Given the description of an element on the screen output the (x, y) to click on. 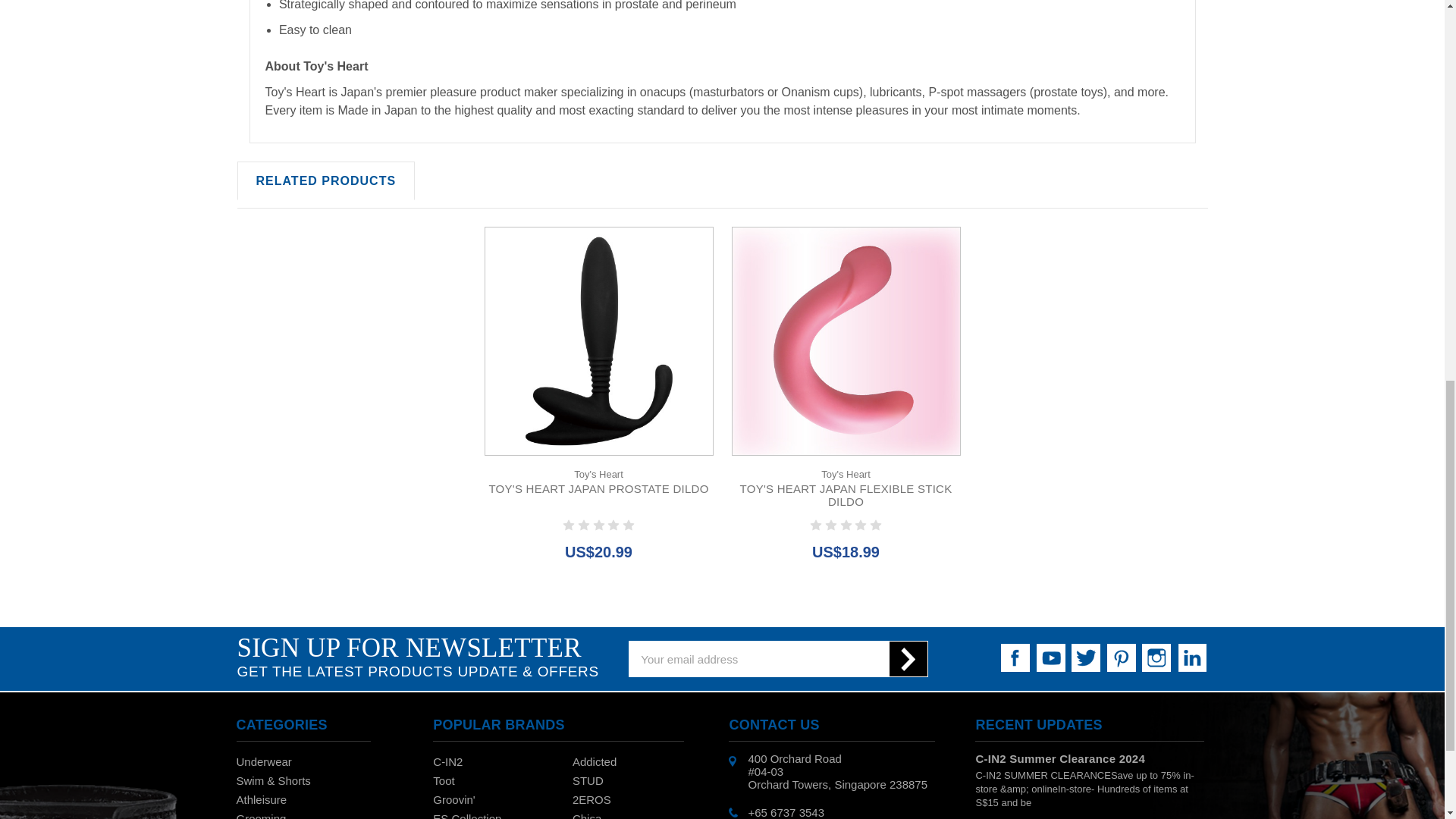
Instagram (1155, 657)
Pinterest (1120, 657)
LinkedIn (1190, 657)
Facebook (1015, 657)
Twitter (1085, 657)
Toy's Heart Japan Prostate Dildo (598, 341)
YouTube (1050, 657)
